Given the description of an element on the screen output the (x, y) to click on. 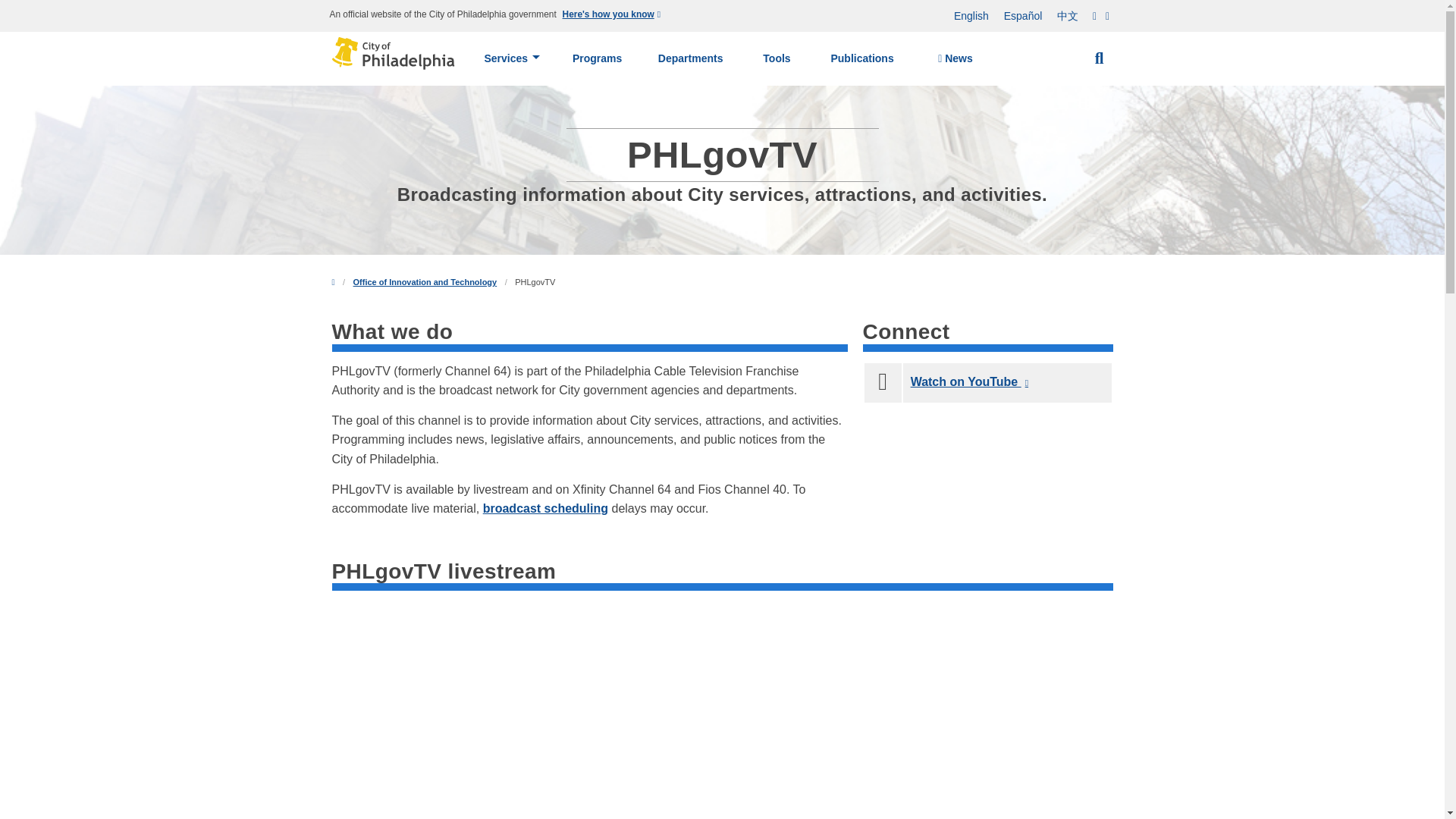
Office of Innovation and Technology (425, 281)
Programs (597, 58)
Watch on YouTube (971, 381)
Services (511, 58)
Publications (862, 58)
Here's how you know (612, 15)
English (970, 15)
Office of Innovation and Technology (425, 281)
News (954, 58)
Departments (690, 58)
broadcast scheduling (545, 508)
Tools (776, 58)
